Given the description of an element on the screen output the (x, y) to click on. 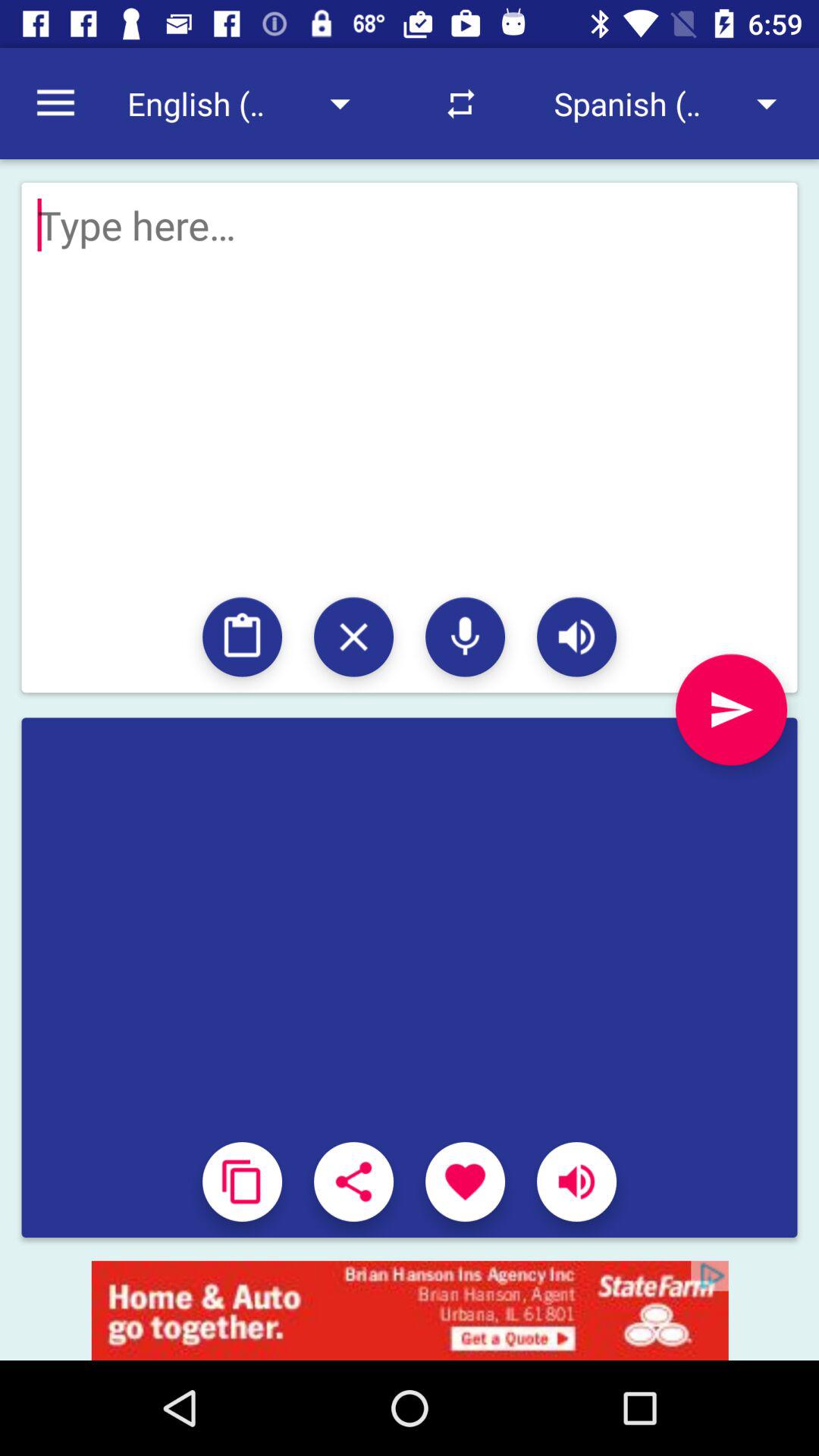
choose audio button (465, 636)
